Given the description of an element on the screen output the (x, y) to click on. 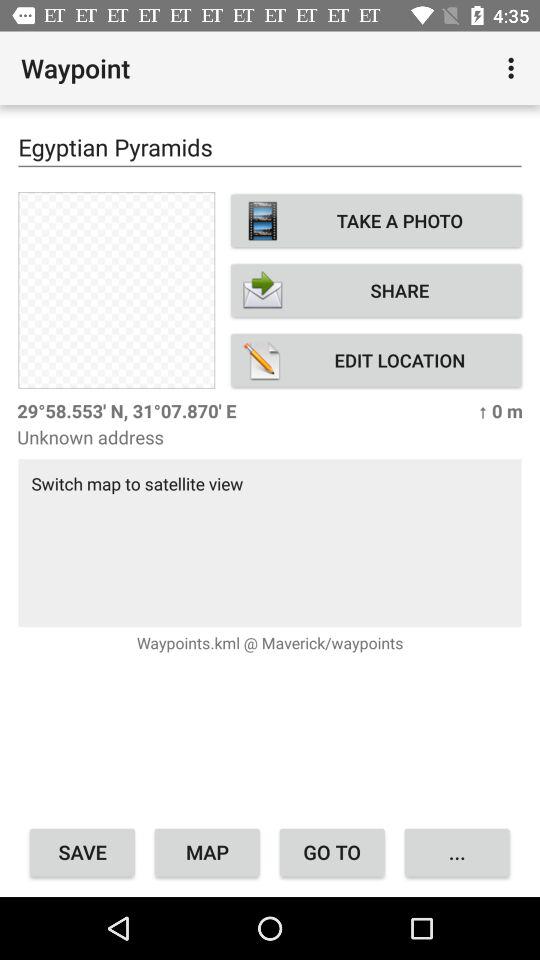
click the item above the 29 58 553 (116, 290)
